Given the description of an element on the screen output the (x, y) to click on. 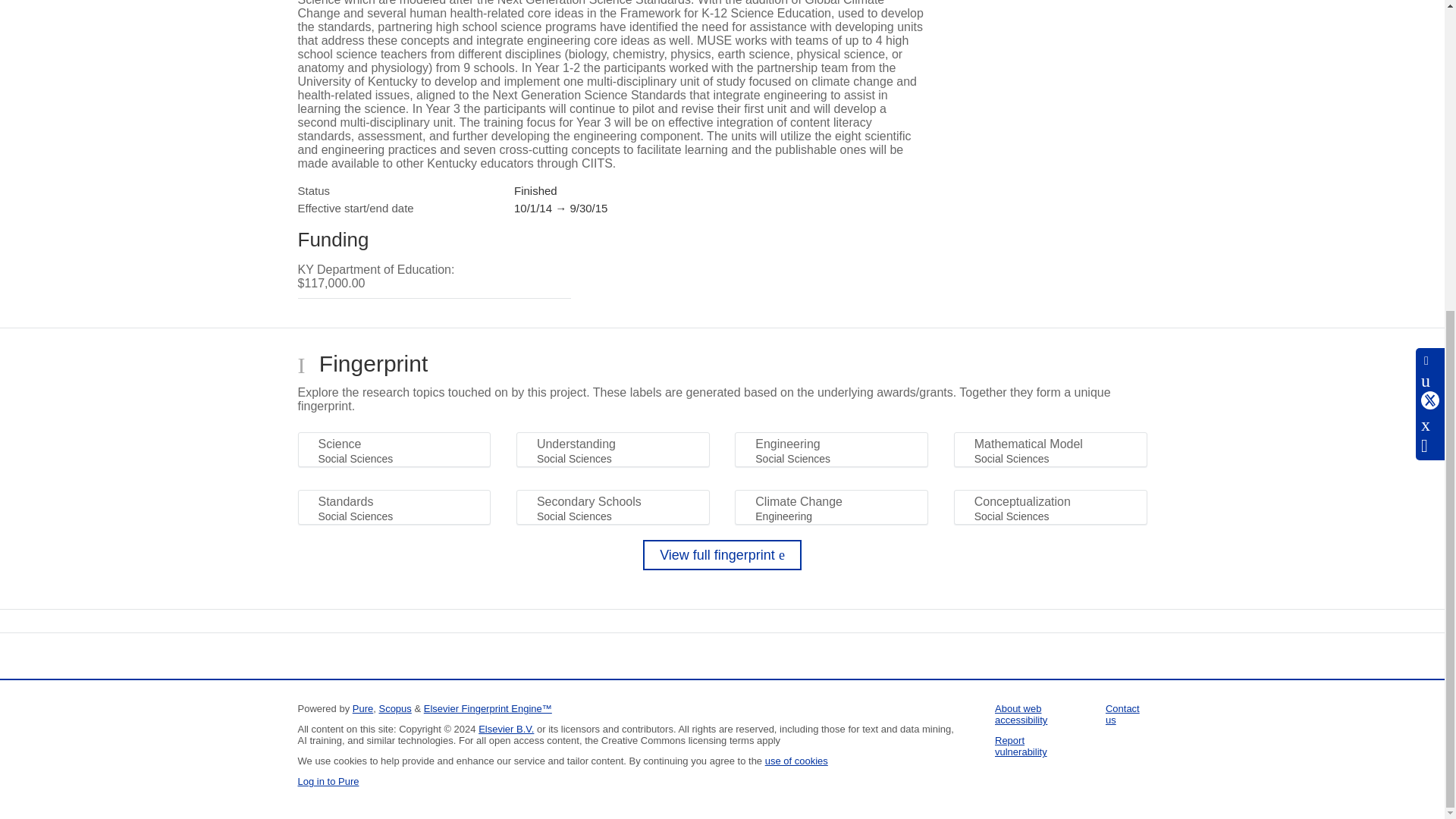
Elsevier B.V. (506, 728)
Pure (362, 708)
Scopus (394, 708)
View full fingerprint (722, 554)
